Given the description of an element on the screen output the (x, y) to click on. 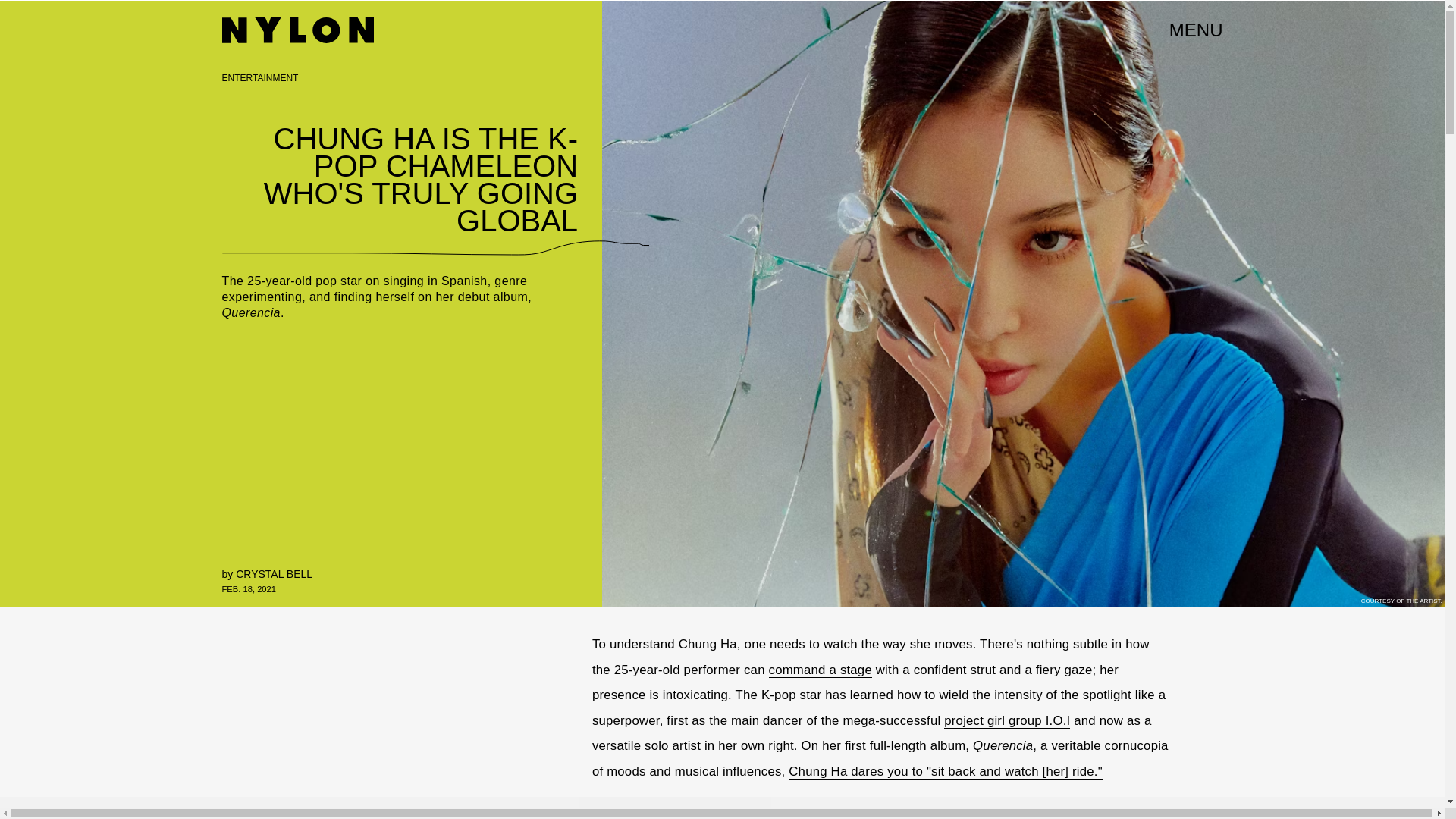
CRYSTAL BELL (274, 573)
Nylon (296, 30)
command a stage (820, 670)
project girl group I.O.I (1006, 720)
